Given the description of an element on the screen output the (x, y) to click on. 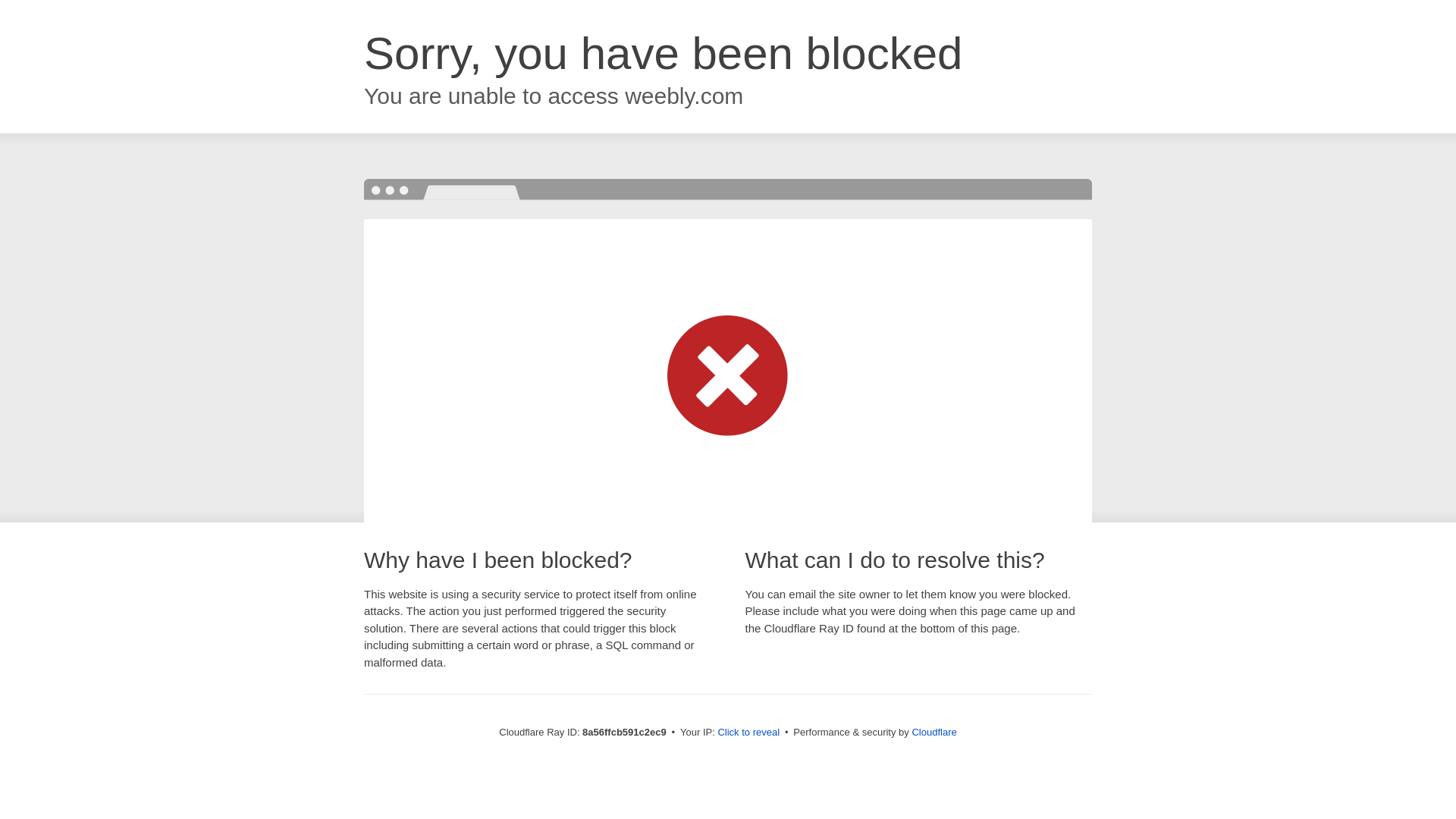
Click to reveal (747, 732)
Cloudflare (933, 731)
